Given the description of an element on the screen output the (x, y) to click on. 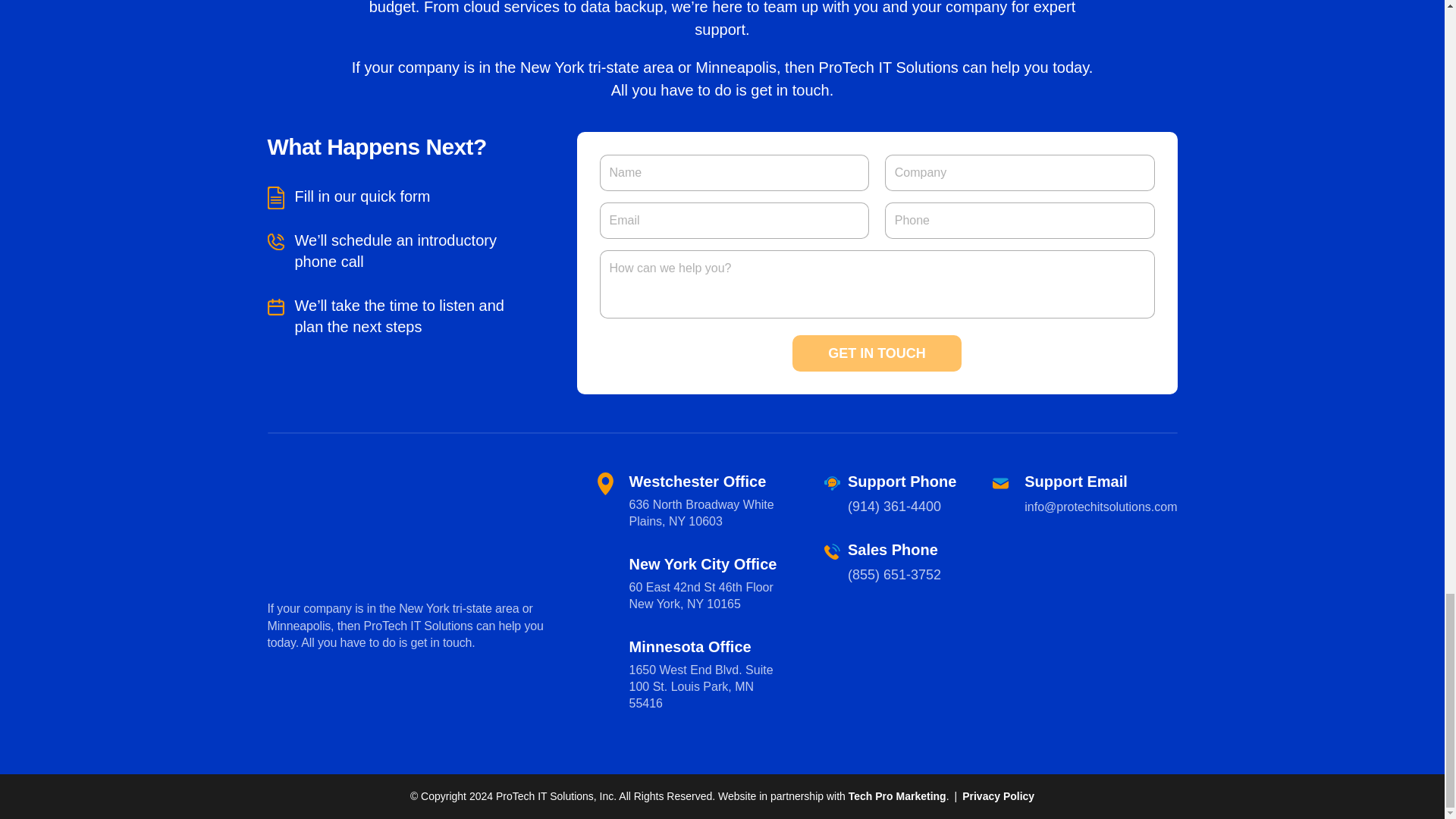
GET IN TOUCH (876, 352)
